Given the description of an element on the screen output the (x, y) to click on. 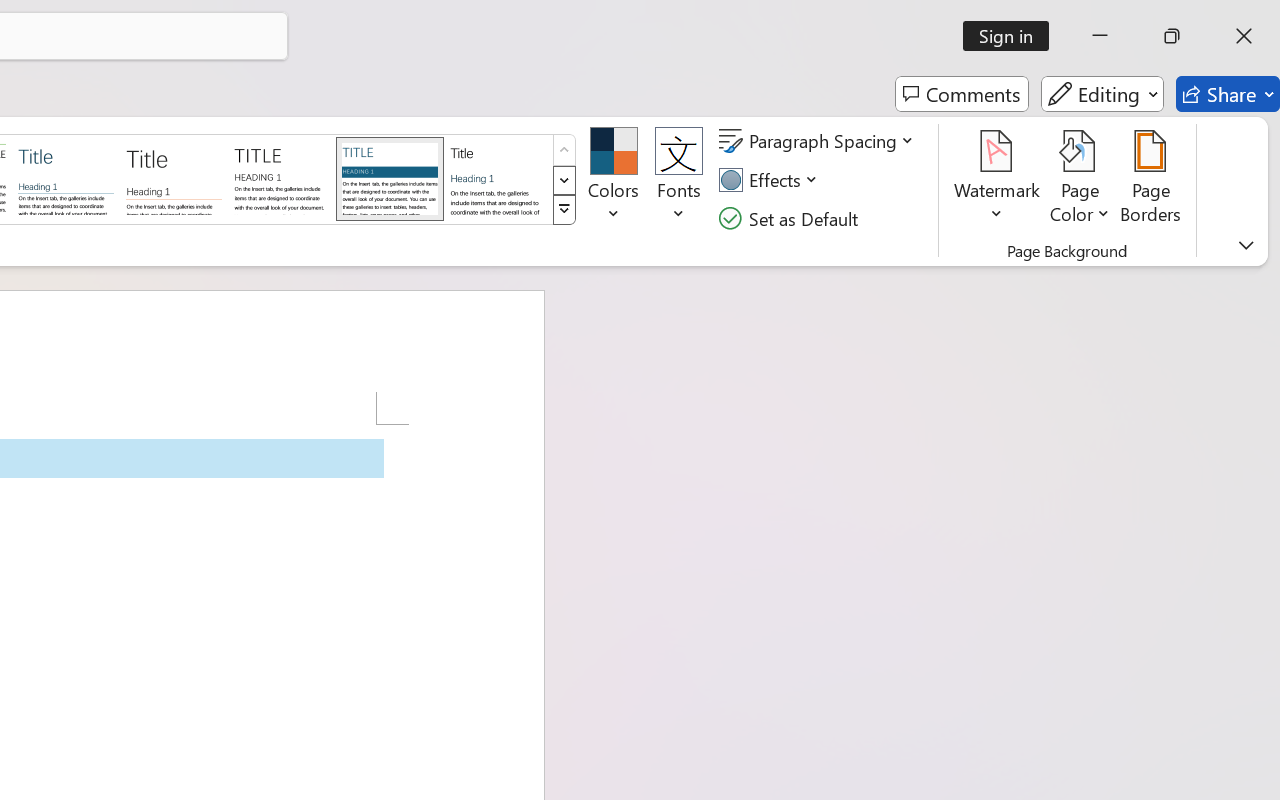
Colors (613, 179)
Effects (771, 179)
Fonts (678, 179)
Sign in (1012, 35)
Minimalist (281, 178)
Page Color (1080, 179)
Shaded (389, 178)
